Given the description of an element on the screen output the (x, y) to click on. 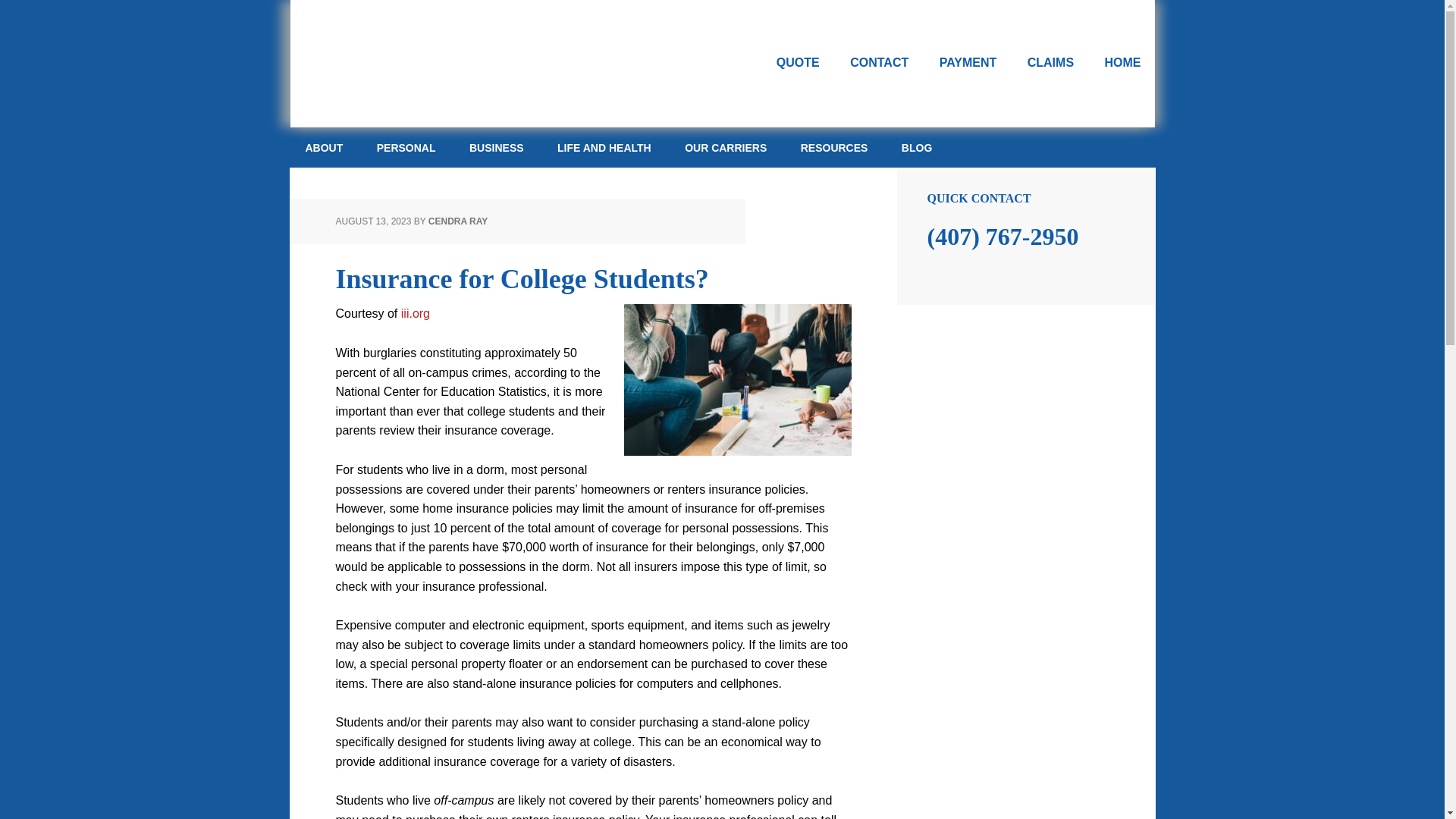
CLAIMS (1050, 63)
National Risk Management and Associates (472, 63)
CONTACT (878, 63)
PAYMENT (968, 63)
LIFE AND HEALTH (603, 147)
HOME (1122, 63)
iii.org (415, 313)
CENDRA RAY (457, 221)
OUR CARRIERS (725, 147)
QUOTE (797, 63)
PERSONAL (406, 147)
BLOG (916, 147)
ABOUT (323, 147)
RESOURCES (834, 147)
BUSINESS (496, 147)
